Given the description of an element on the screen output the (x, y) to click on. 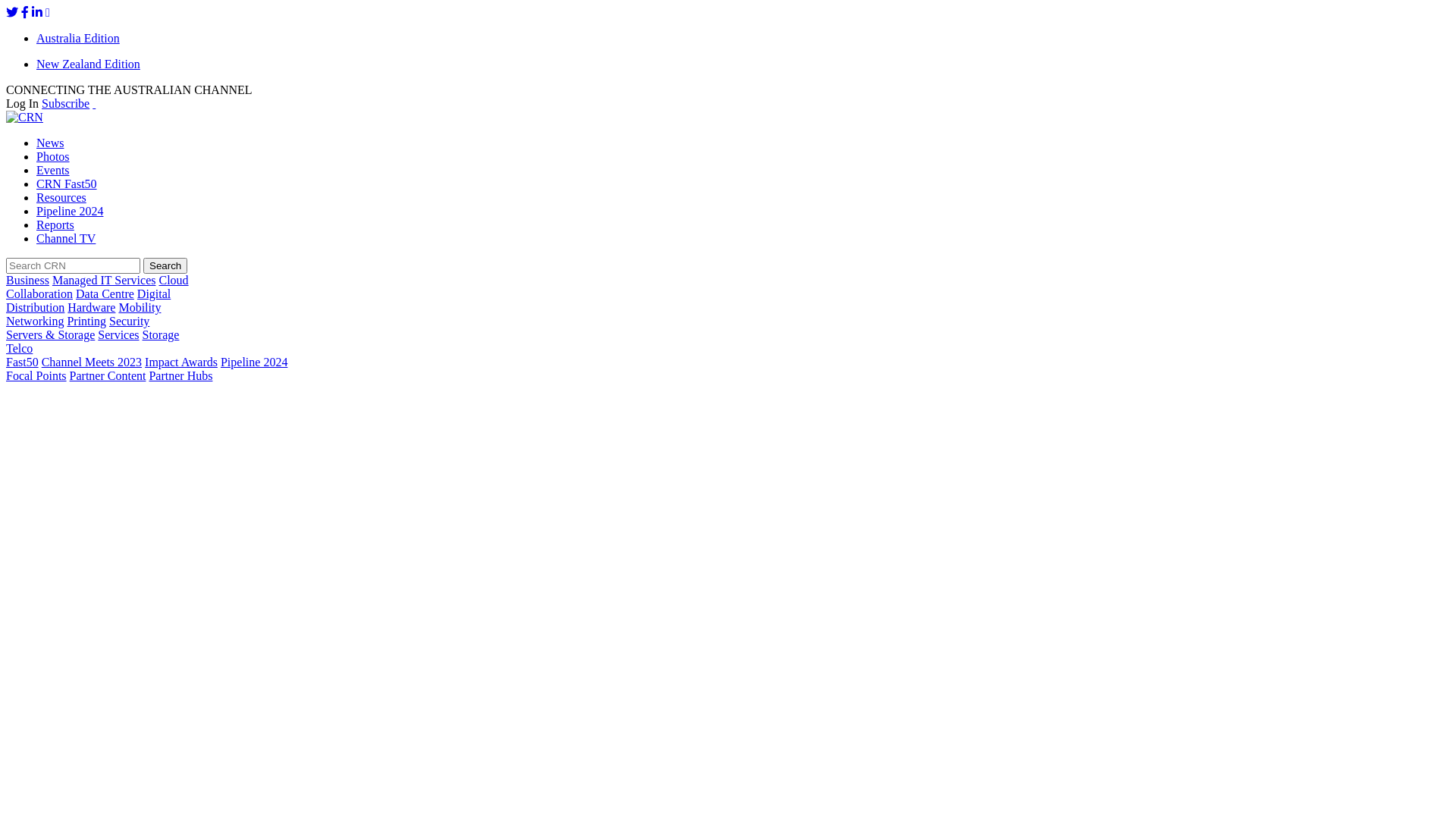
  Element type: text (93, 103)
Networking Element type: text (34, 320)
Mobility Element type: text (139, 307)
Log In Element type: text (22, 103)
Partner Content Element type: text (107, 375)
Distribution Element type: text (35, 307)
Storage Element type: text (160, 334)
Security Element type: text (129, 320)
Australia Edition Element type: text (77, 37)
Impact Awards Element type: text (180, 361)
Printing Element type: text (86, 320)
Services Element type: text (117, 334)
Hardware Element type: text (91, 307)
Digital Element type: text (153, 293)
Business Element type: text (27, 279)
Collaboration Element type: text (39, 293)
Servers & Storage Element type: text (50, 334)
Pipeline 2024 Element type: text (69, 210)
Subscribe Element type: text (65, 103)
Data Centre Element type: text (104, 293)
Reports Element type: text (55, 224)
News Element type: text (49, 142)
Fast50 Element type: text (22, 361)
Channel Meets 2023 Element type: text (91, 361)
Managed IT Services Element type: text (104, 279)
Telco Element type: text (19, 348)
Photos Element type: text (52, 156)
Focal Points Element type: text (36, 375)
Cloud Element type: text (173, 279)
Resources Element type: text (61, 197)
CRN Fast50 Element type: text (66, 183)
Pipeline 2024 Element type: text (253, 361)
Partner Hubs Element type: text (180, 375)
Channel TV Element type: text (65, 238)
Events Element type: text (52, 169)
Search Element type: text (165, 265)
New Zealand Edition Element type: text (88, 63)
